Given the description of an element on the screen output the (x, y) to click on. 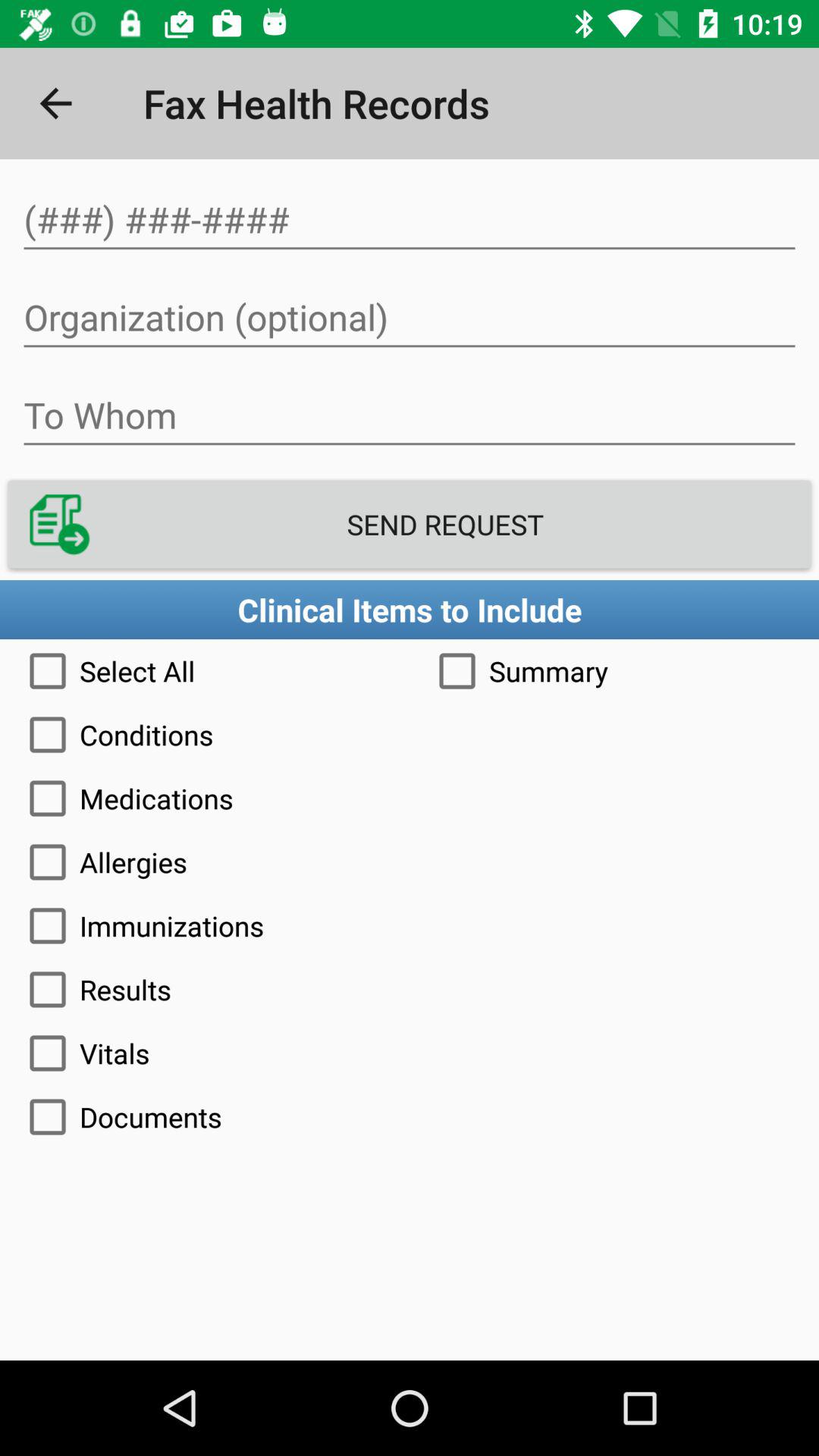
click the icon above conditions (614, 670)
